Given the description of an element on the screen output the (x, y) to click on. 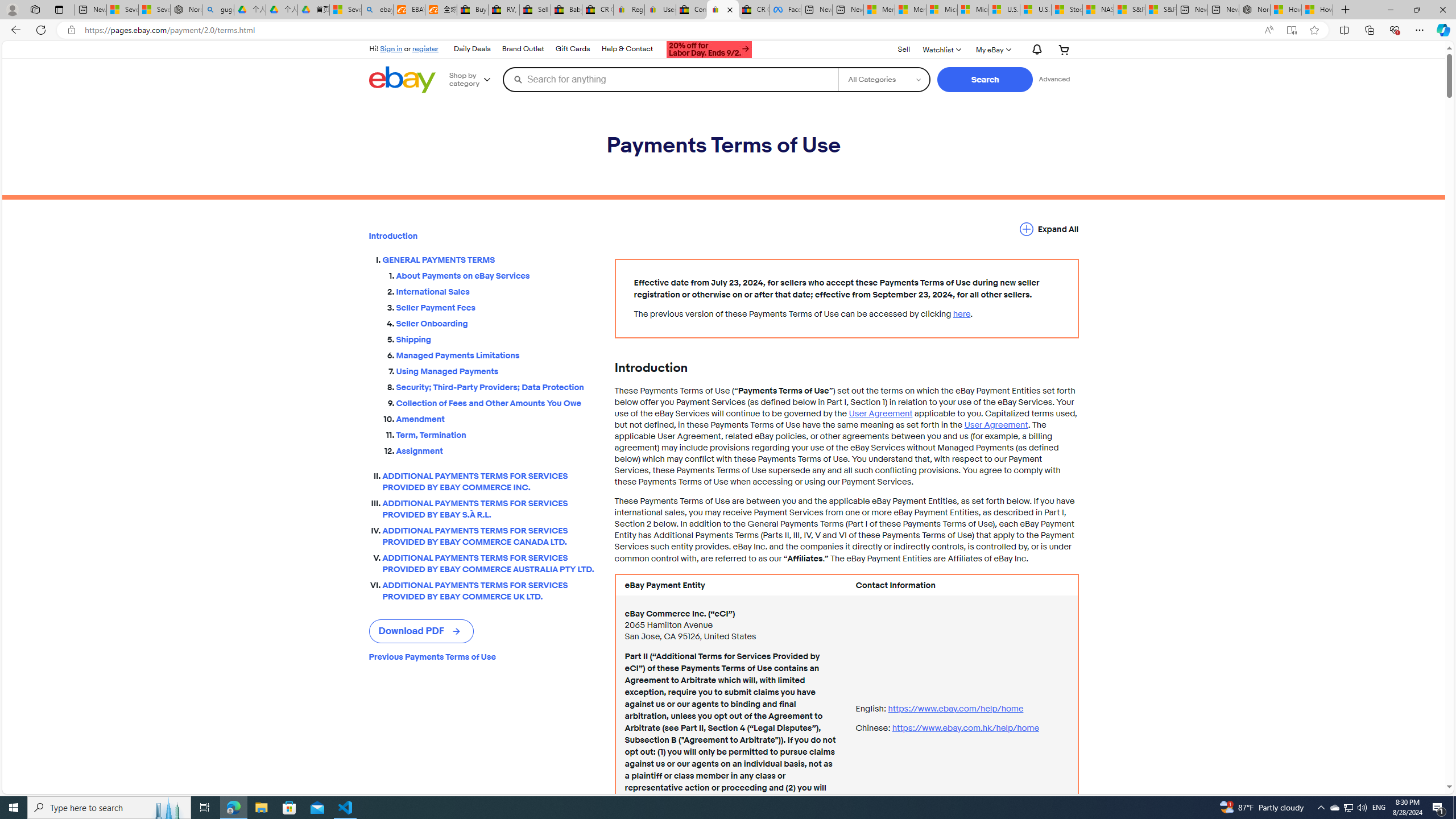
My eBayExpand My eBay (992, 49)
Seller Payment Fees (496, 307)
Introduction (482, 236)
Register: Create a personal eBay account (628, 9)
Term, Termination (496, 435)
register (425, 48)
Assignment (496, 451)
Managed Payments Limitations (496, 353)
